Given the description of an element on the screen output the (x, y) to click on. 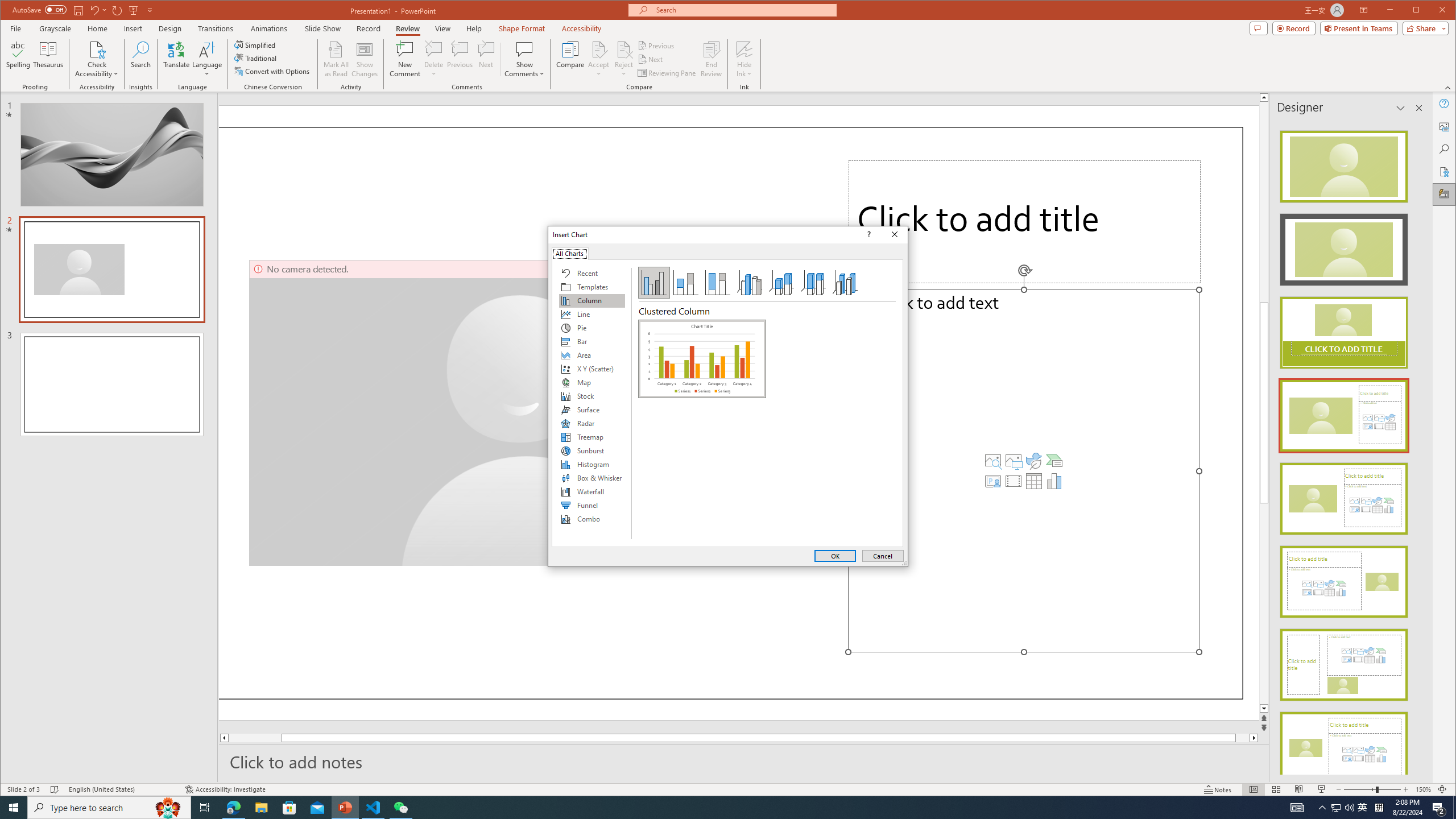
Insert Video (1013, 480)
Compare (569, 59)
Context help (867, 234)
